Given the description of an element on the screen output the (x, y) to click on. 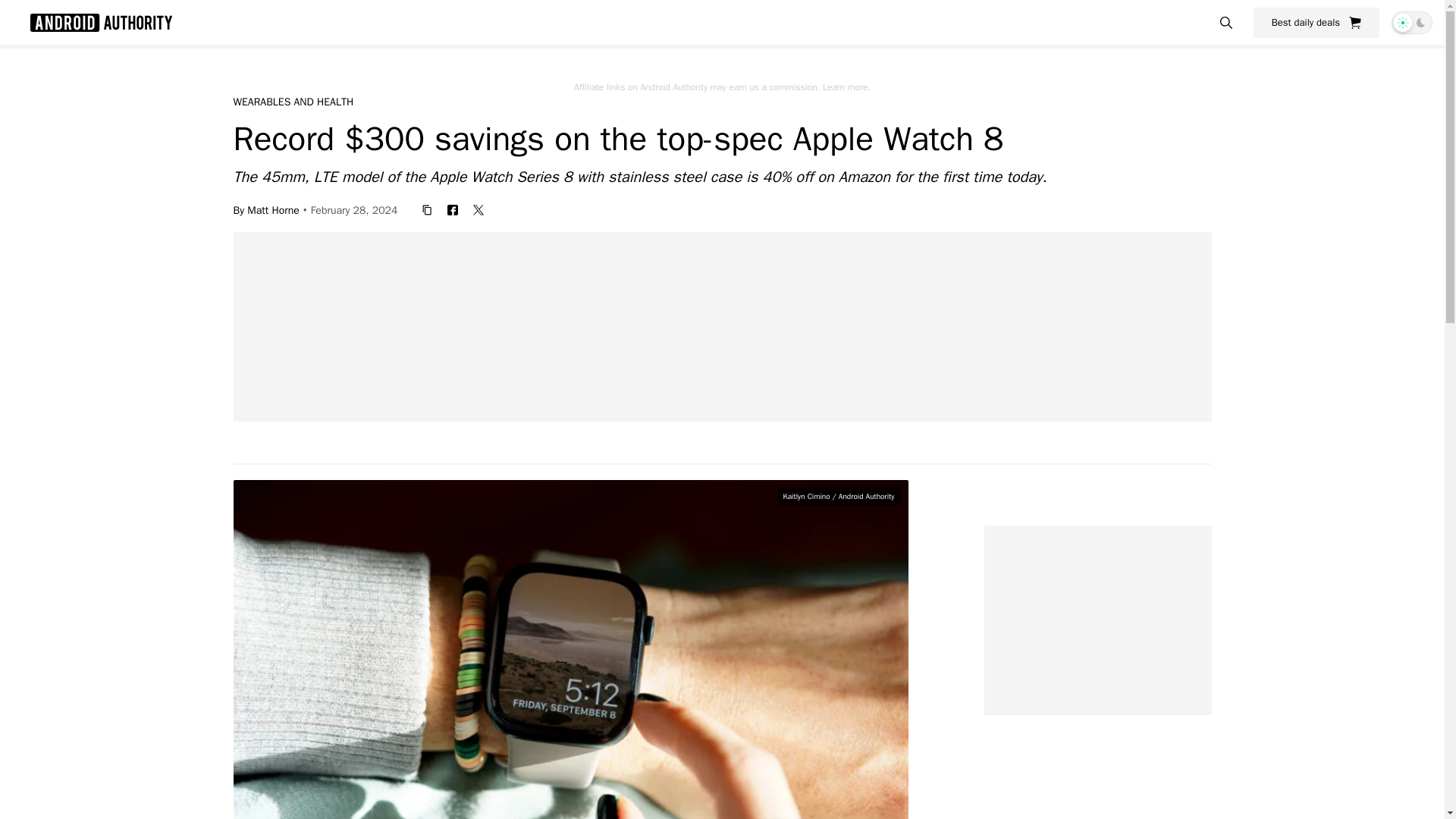
Matt Horne (273, 209)
twitter (478, 209)
Learn more. (846, 86)
facebook (452, 209)
WEARABLES AND HEALTH (292, 101)
Best daily deals (1315, 22)
